Given the description of an element on the screen output the (x, y) to click on. 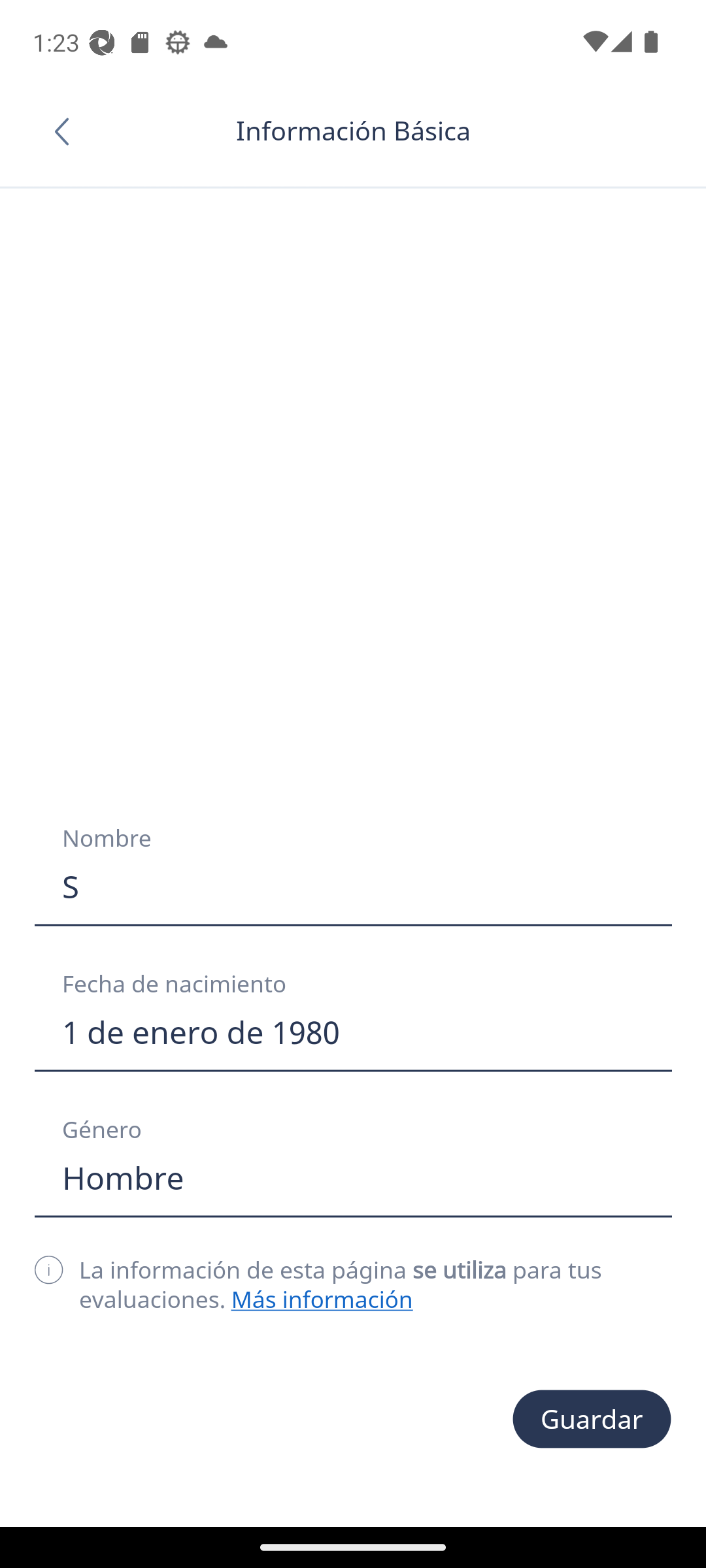
Go back, Navigates to the previous screen (68, 131)
S (353, 886)
1 de enero de 1980 (353, 1032)
Hombre (353, 1178)
Guardar (591, 1418)
